Given the description of an element on the screen output the (x, y) to click on. 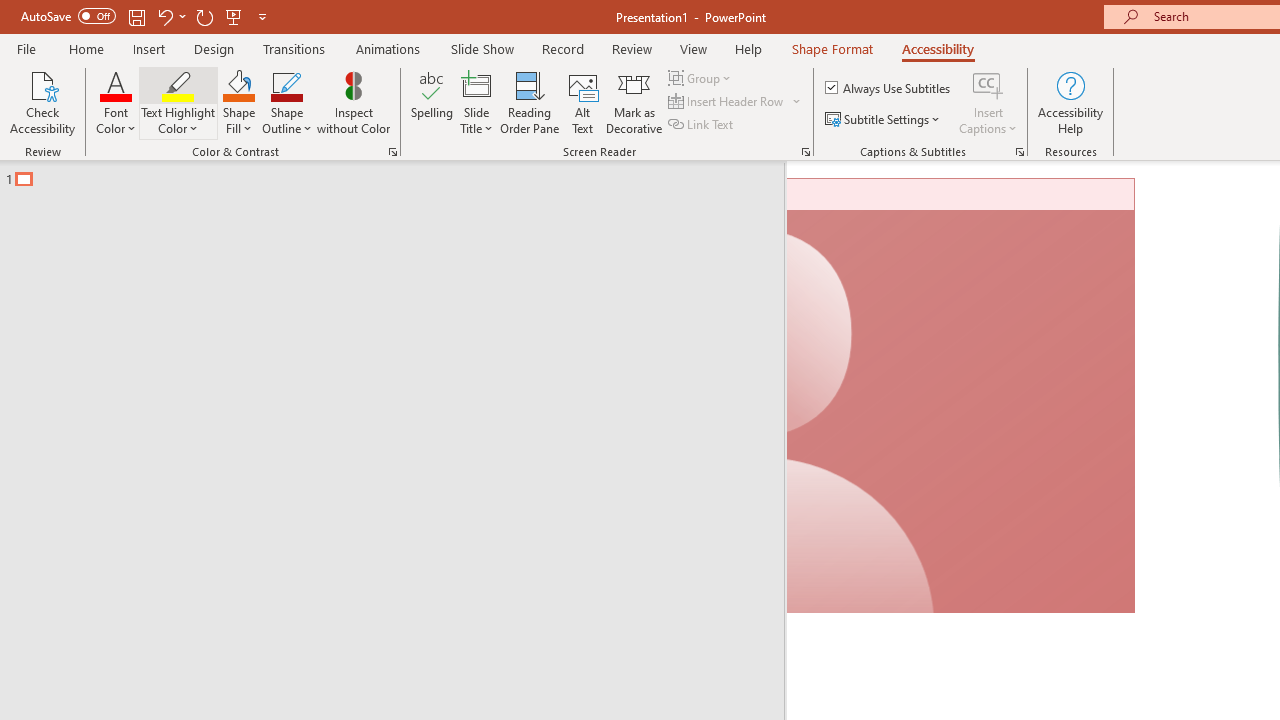
Always Use Subtitles (889, 87)
Screen Reader (805, 151)
